Given the description of an element on the screen output the (x, y) to click on. 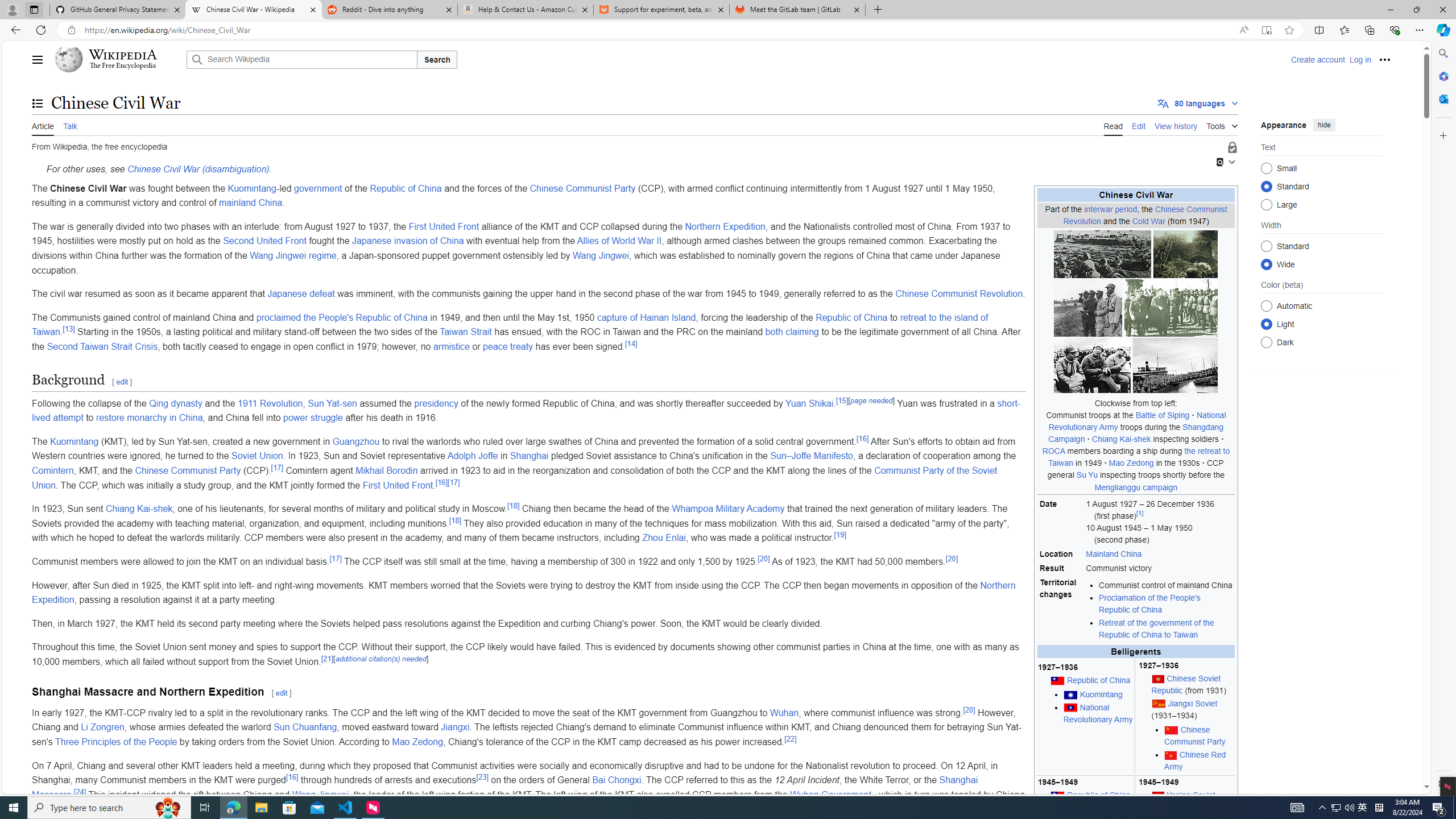
1911 Revolution (269, 403)
Chinese Civil War (disambiguation) (197, 169)
Battle of Siping (1162, 414)
Mao Zedong (417, 741)
[23] (482, 776)
edit (281, 692)
 Chinese Communist Party (1199, 735)
Personal tools (1384, 59)
Large (1266, 204)
Communist victory (1158, 568)
Communist control of mainland China (1166, 585)
